Given the description of an element on the screen output the (x, y) to click on. 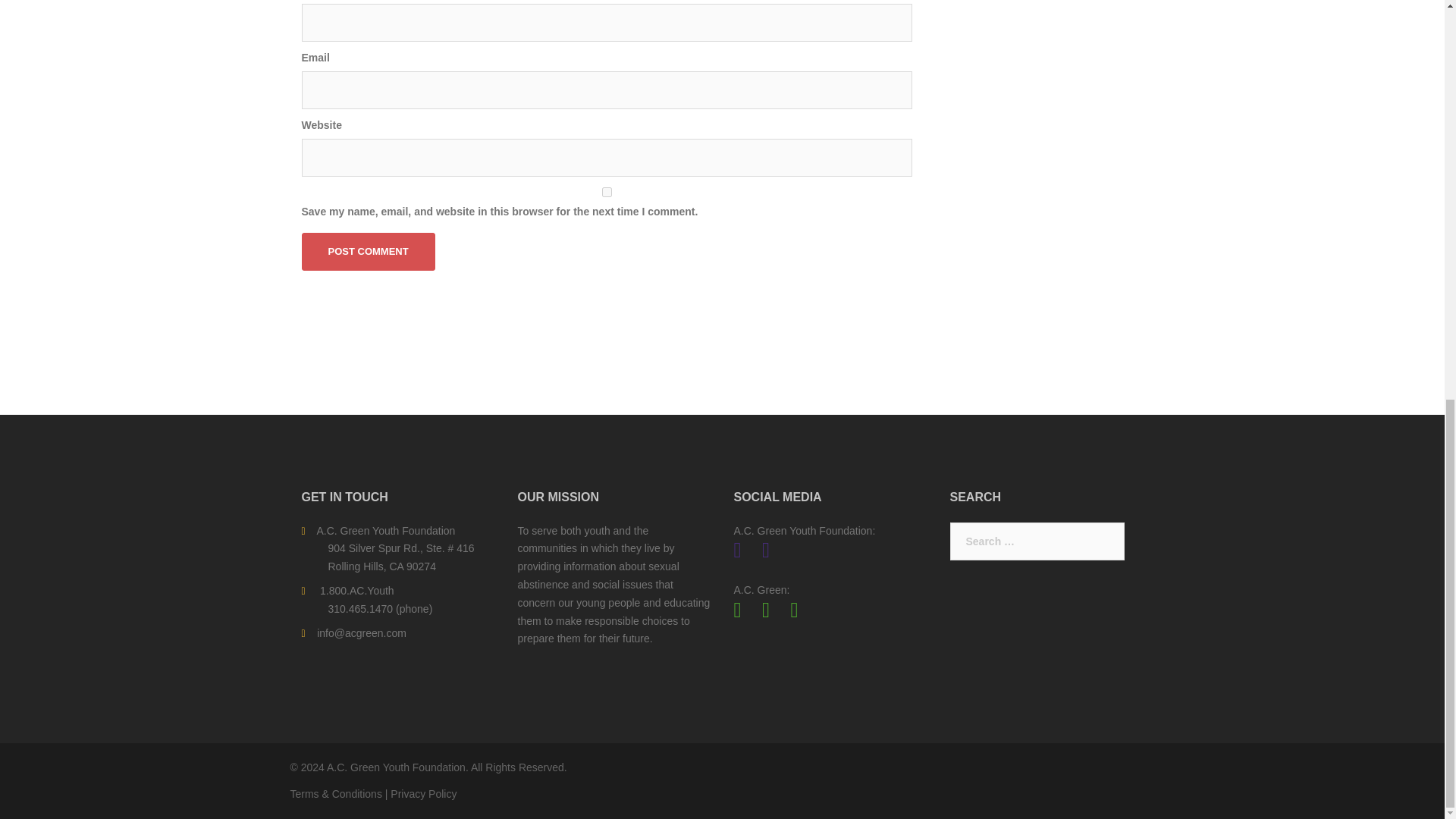
Post Comment (368, 251)
yes (606, 192)
